Given the description of an element on the screen output the (x, y) to click on. 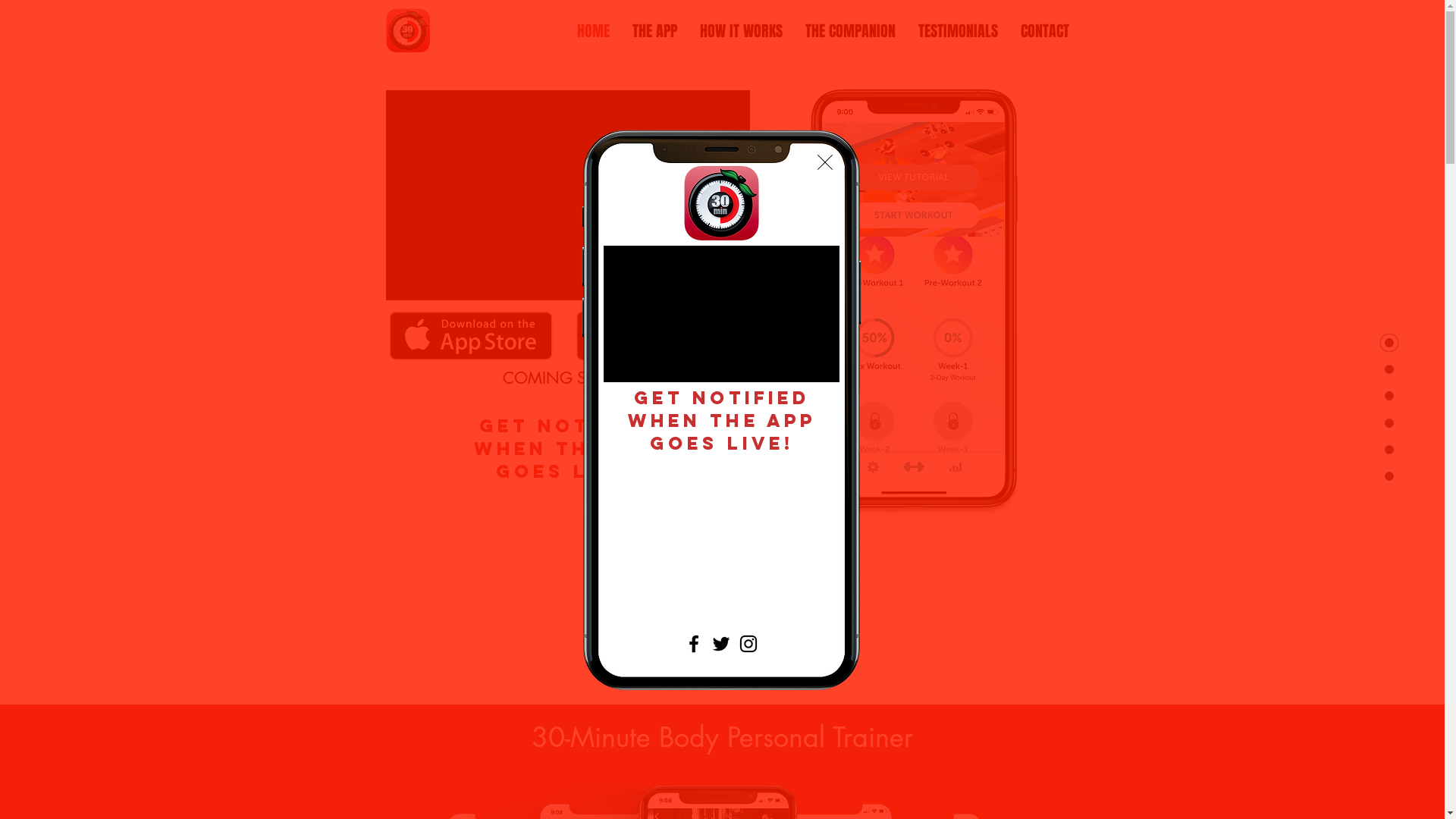
Embedded Content Element type: hover (908, 551)
TESTIMONIALS Element type: text (957, 30)
THE APP Element type: text (653, 30)
THE COMPANION Element type: text (849, 30)
Embedded Content Element type: hover (567, 548)
Embedded Content Element type: hover (721, 520)
HOME Element type: text (593, 30)
HOW IT WORKS Element type: text (740, 30)
Back to site Element type: hover (824, 161)
CONTACT Element type: text (1043, 30)
